Given the description of an element on the screen output the (x, y) to click on. 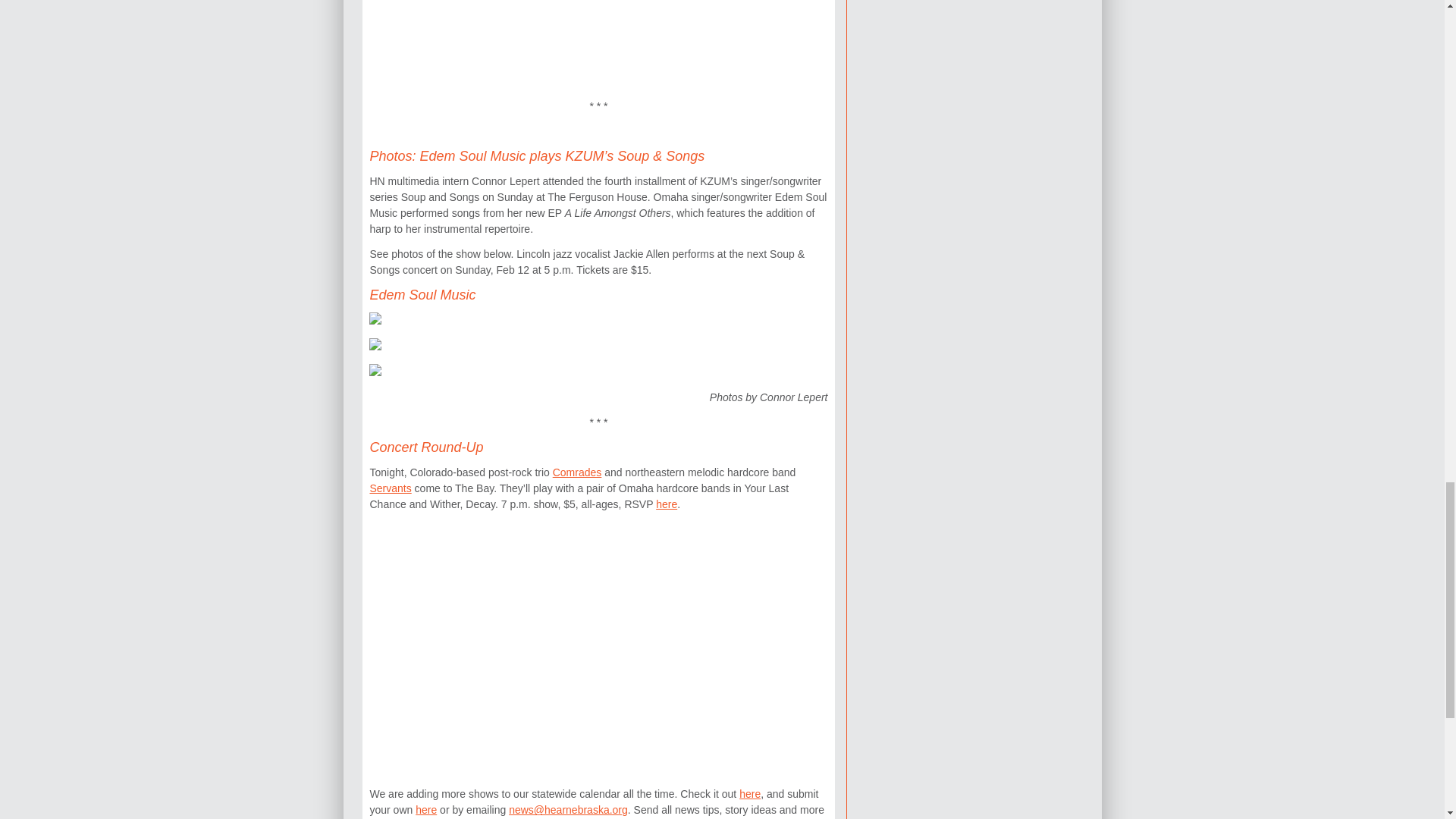
here (666, 503)
Wither, Decay - Casualty (597, 646)
John Freidel - Tracks in the Snow (597, 33)
here (749, 793)
Comrades (577, 472)
here (425, 809)
Servants (389, 488)
